Given the description of an element on the screen output the (x, y) to click on. 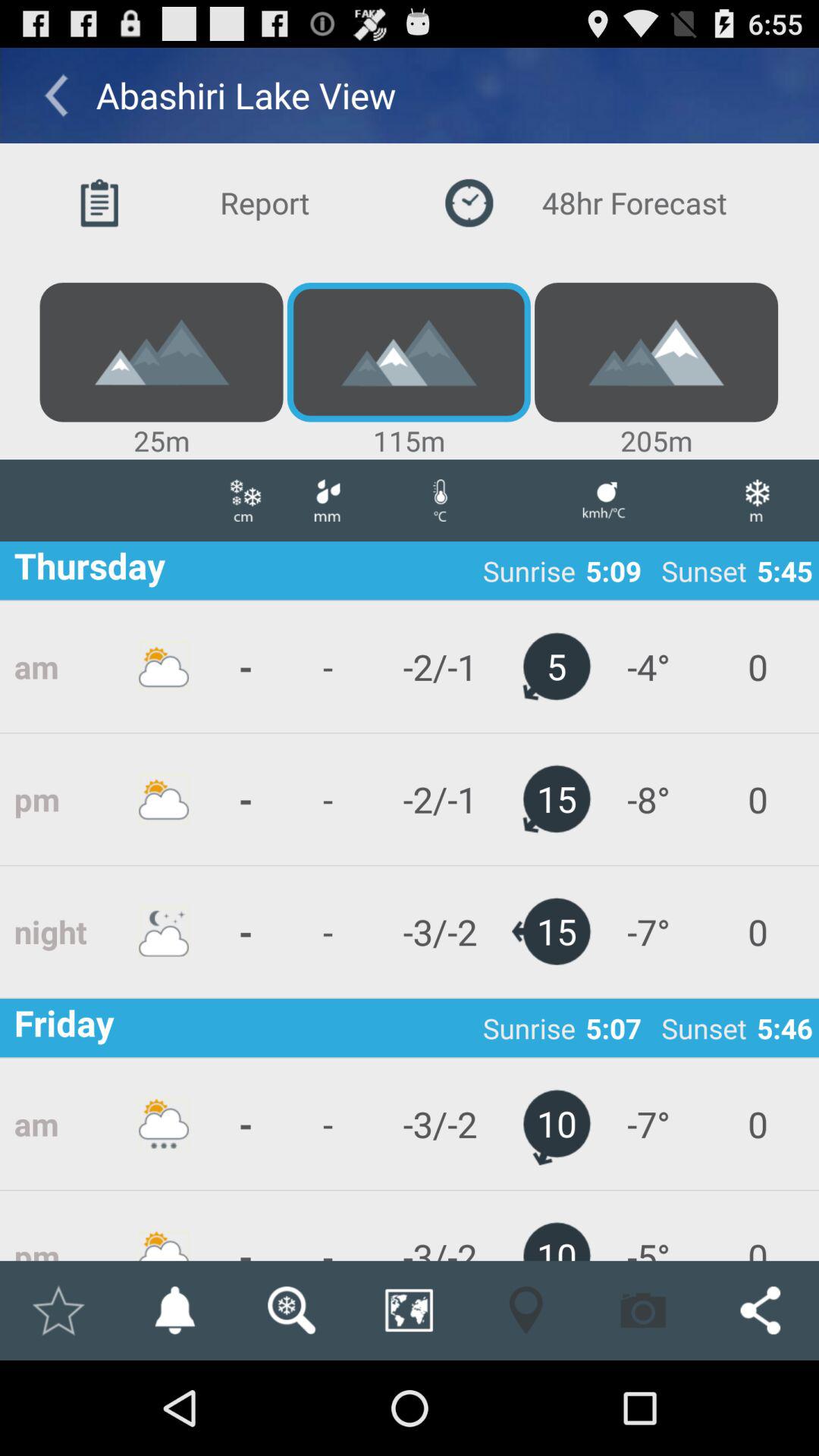
press button to the left of the 48hr forecast (224, 202)
